Given the description of an element on the screen output the (x, y) to click on. 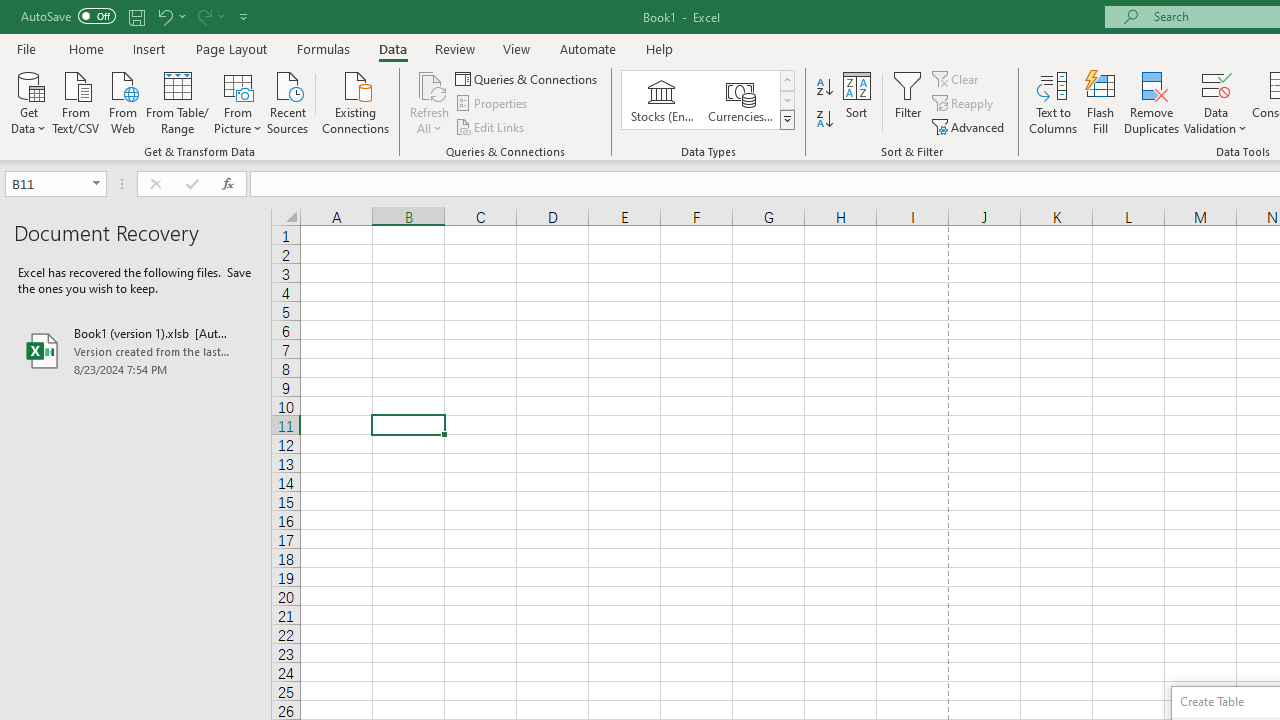
AutomationID: ConvertToLinkedEntity (708, 99)
Data Types (786, 120)
Row up (786, 79)
Queries & Connections (527, 78)
Filter (908, 102)
From Table/Range (177, 101)
Clear (957, 78)
